Given the description of an element on the screen output the (x, y) to click on. 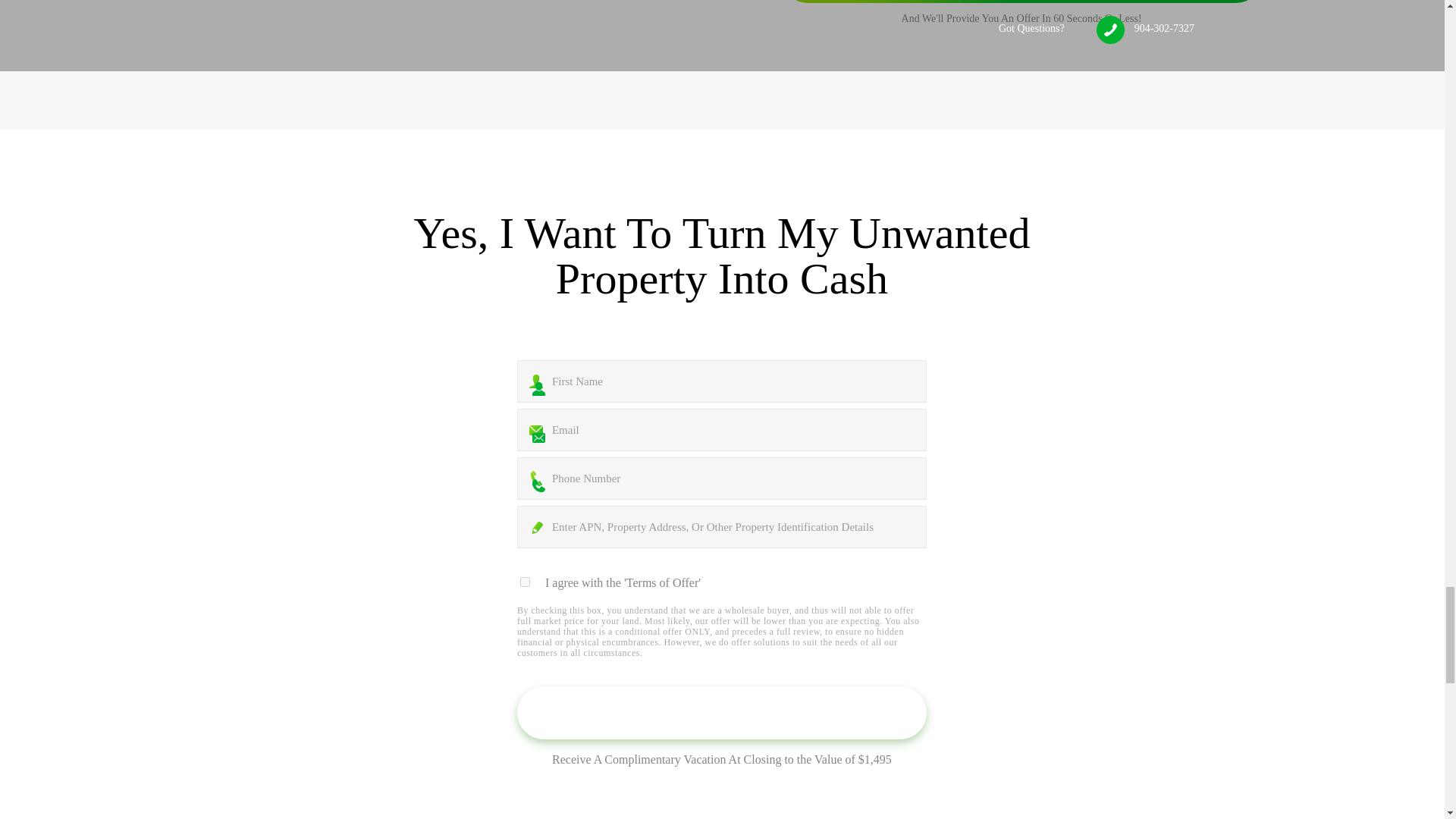
Get a cash offer fast (721, 712)
on (524, 582)
Get a cash offer fast (721, 712)
